Given the description of an element on the screen output the (x, y) to click on. 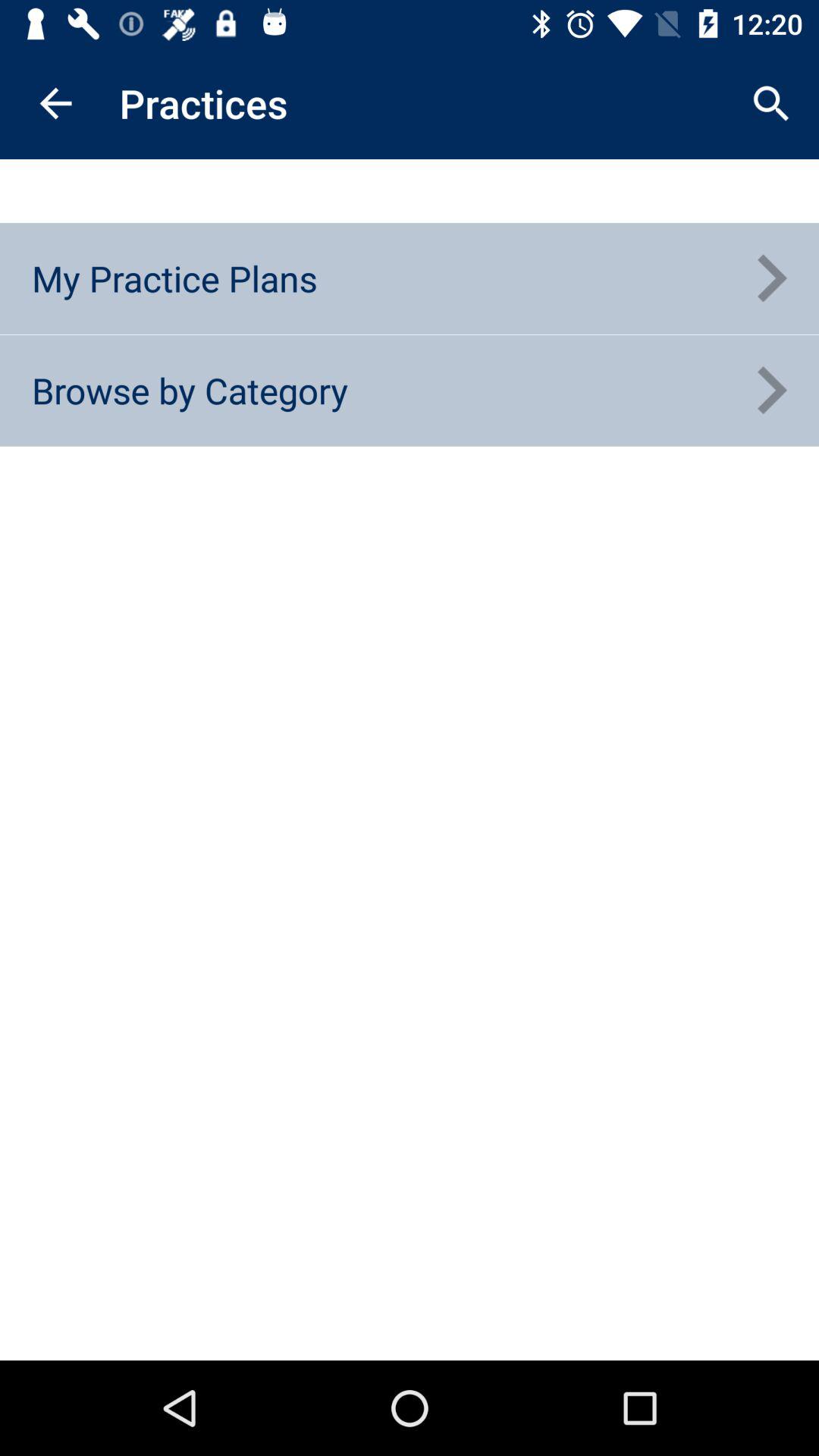
launch app next to practices icon (771, 103)
